Given the description of an element on the screen output the (x, y) to click on. 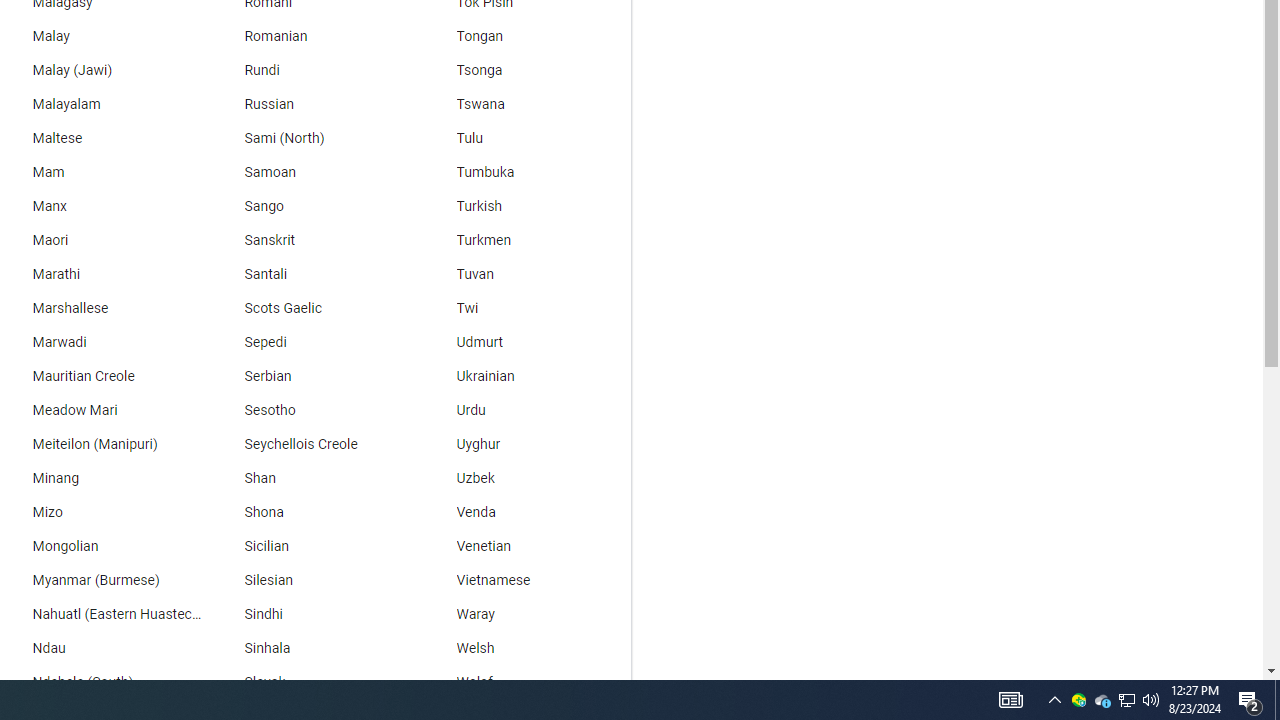
Scots Gaelic (312, 308)
Sanskrit (312, 240)
Sami (North) (312, 138)
Sango (312, 206)
Samoan (312, 172)
Seychellois Creole (312, 444)
Russian (312, 104)
Welsh (525, 648)
Shan (312, 478)
Venetian (525, 547)
